Given the description of an element on the screen output the (x, y) to click on. 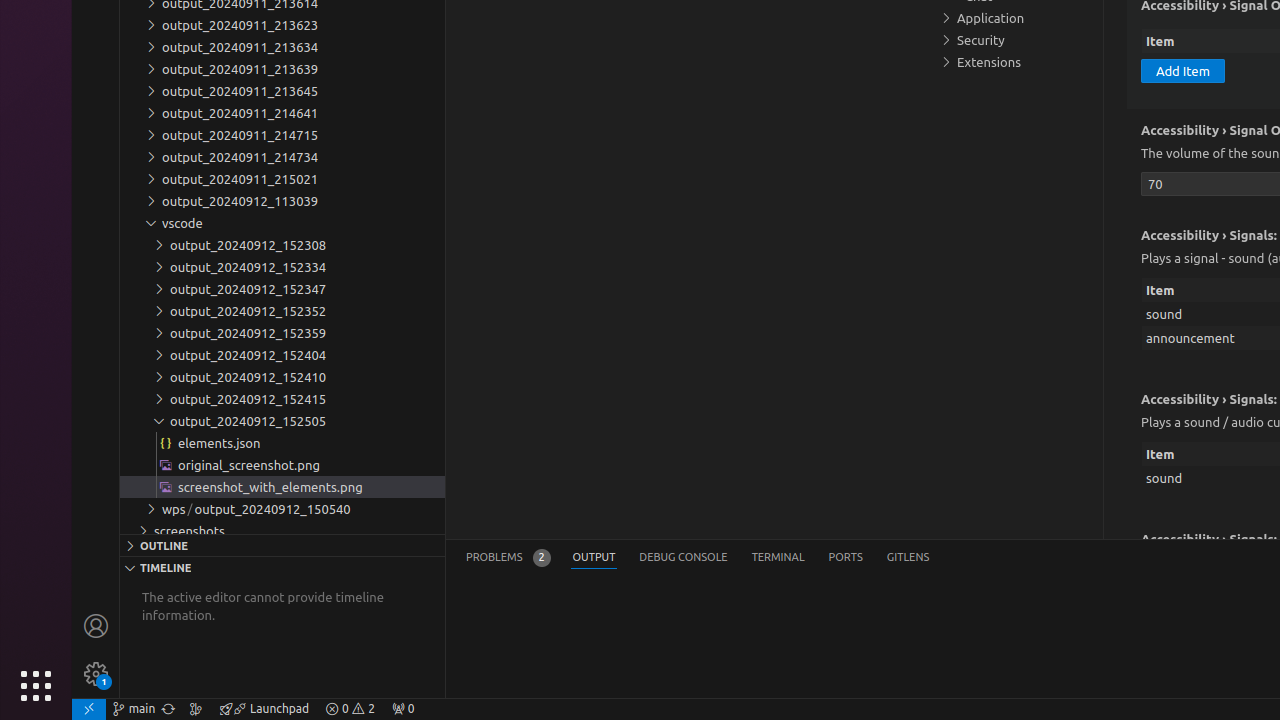
output_20240912_152352 Element type: tree-item (282, 311)
Show the GitLens Commit Graph Element type: push-button (196, 709)
output_20240911_213645 Element type: tree-item (282, 91)
OSWorld (Git) - Synchronize Changes Element type: push-button (168, 709)
Manage - New Code update available. Element type: push-button (96, 674)
